Given the description of an element on the screen output the (x, y) to click on. 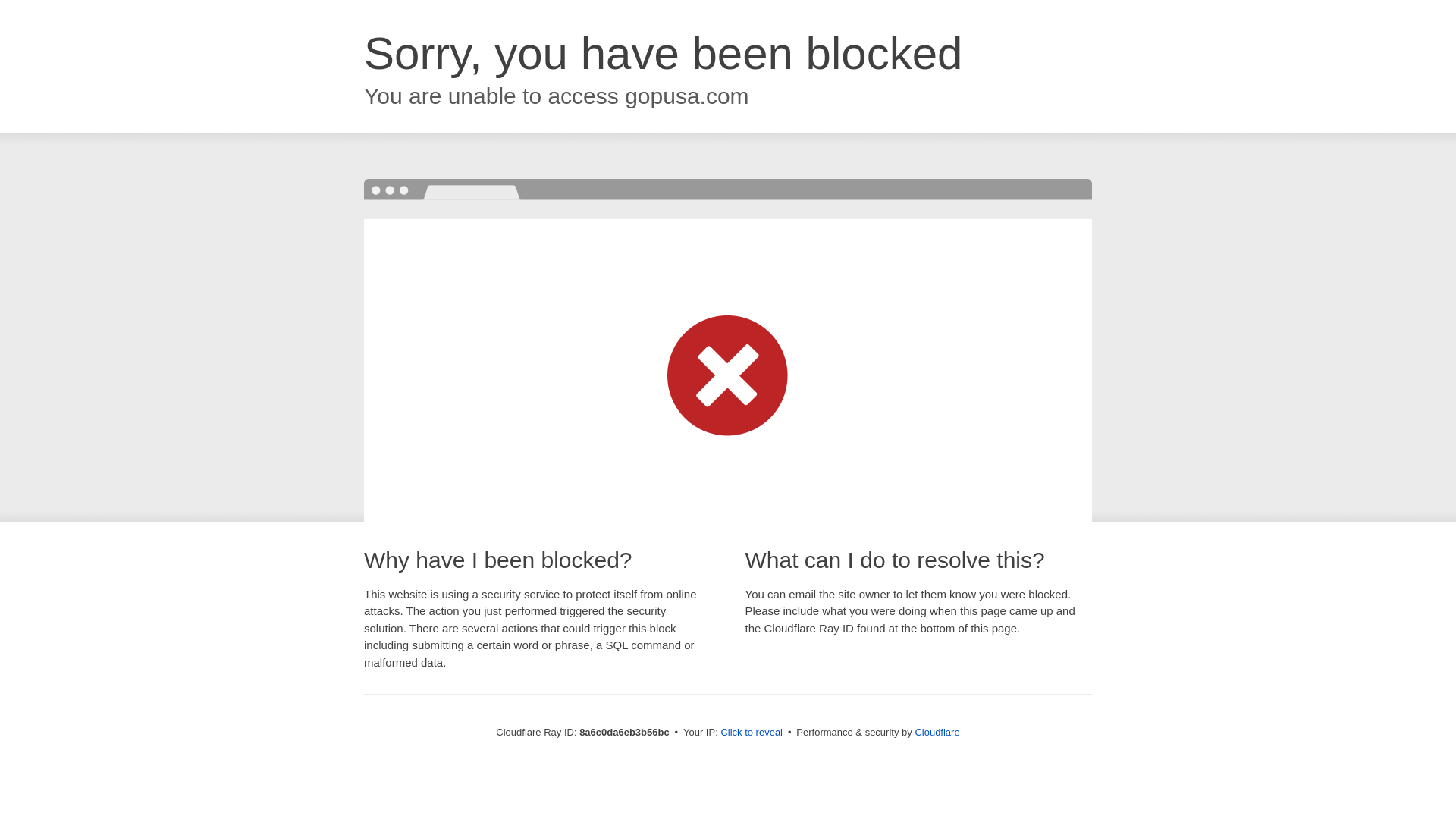
Click to reveal (751, 732)
Cloudflare (936, 731)
